Given the description of an element on the screen output the (x, y) to click on. 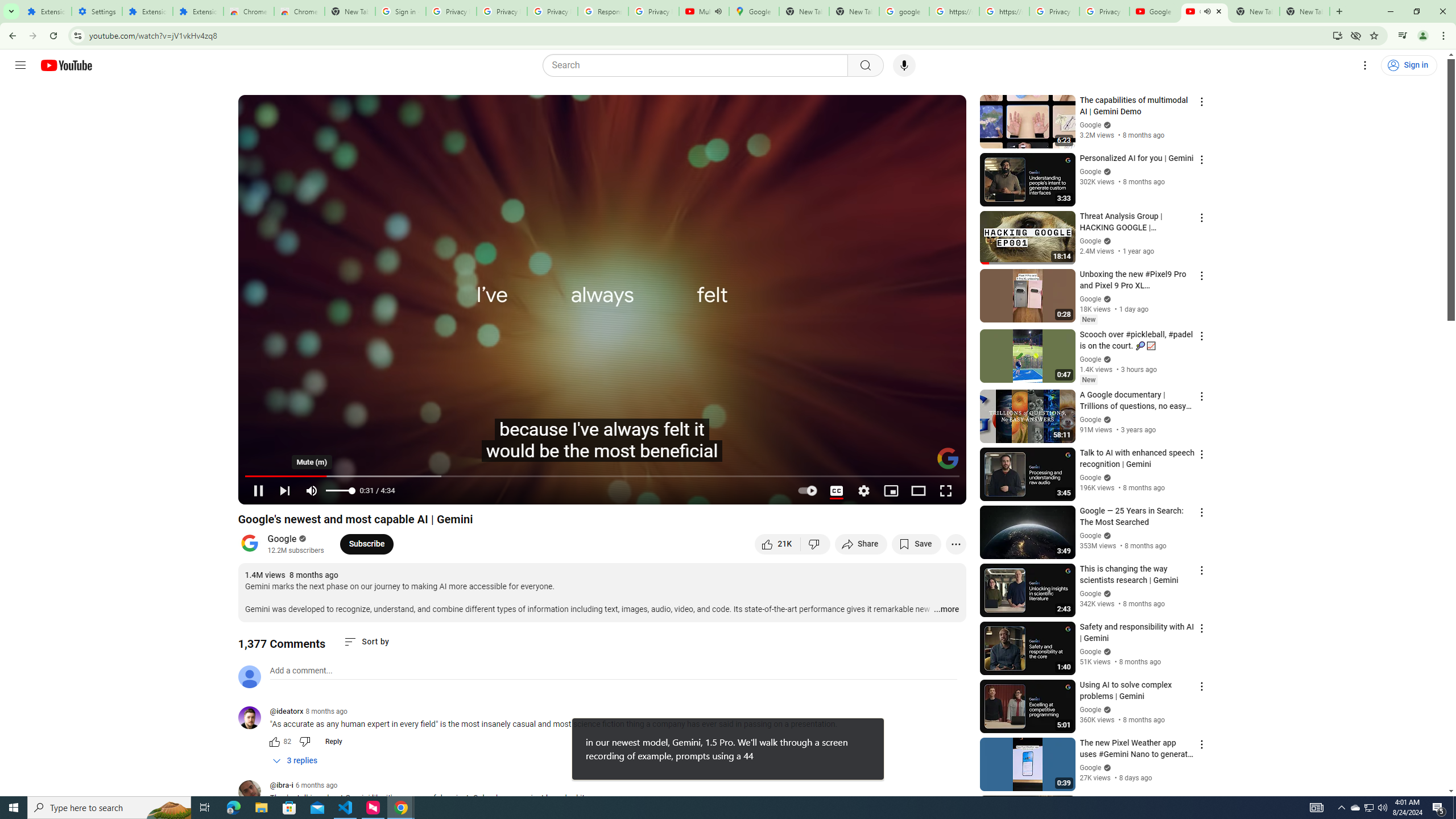
Mute keyboard shortcut m (312, 490)
Settings (97, 11)
https://scholar.google.com/ (954, 11)
Dislike this video (815, 543)
6 months ago (316, 785)
Share (861, 543)
Autoplay is on (808, 490)
Sort comments (366, 641)
Like this comment along with 82 other people (273, 741)
